Given the description of an element on the screen output the (x, y) to click on. 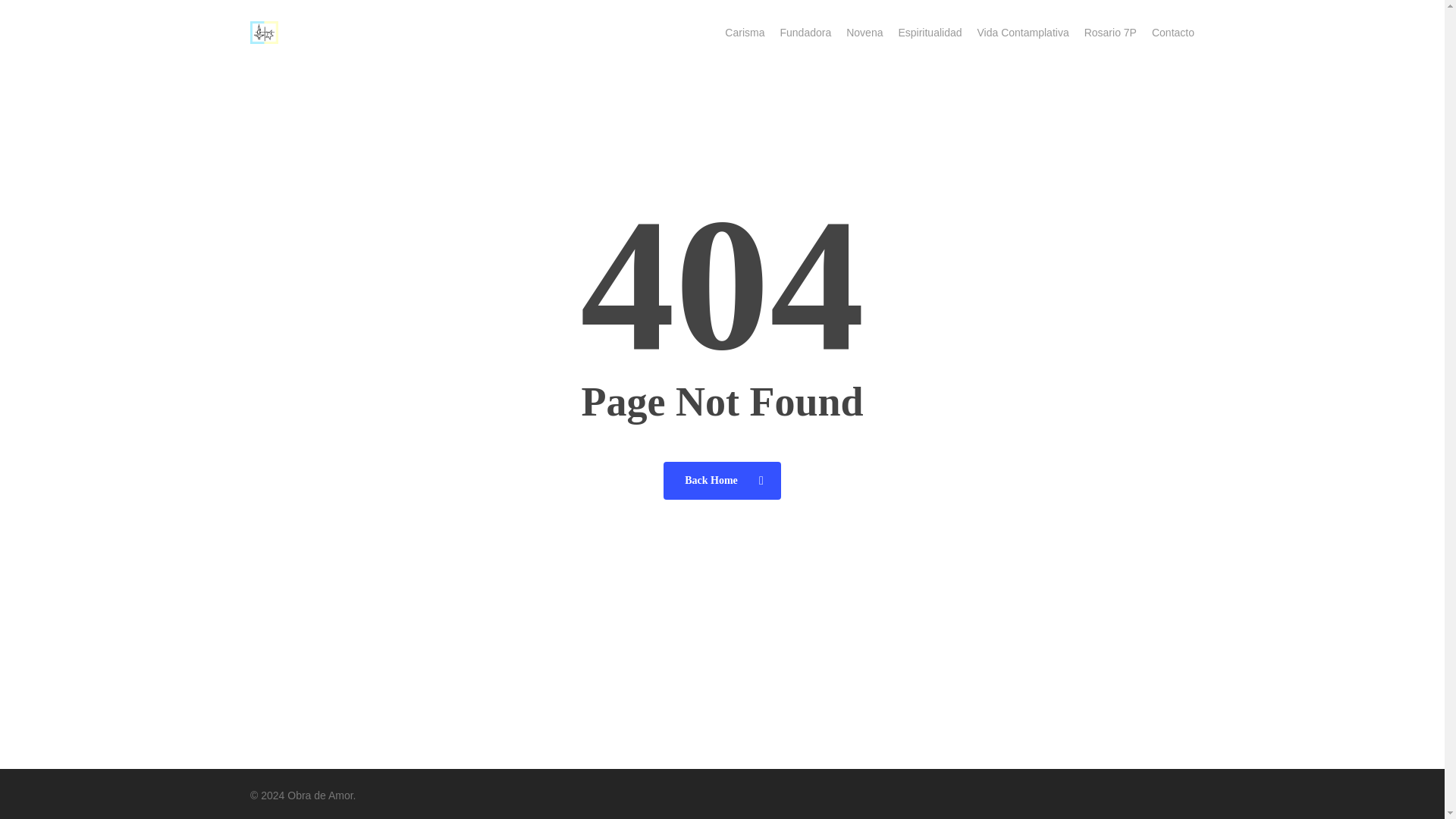
Espiritualidad (929, 32)
Contacto (1172, 32)
Vida Contamplativa (1022, 32)
Fundadora (804, 32)
Novena (863, 32)
Rosario 7P (1110, 32)
Carisma (744, 32)
Back Home (721, 479)
